Given the description of an element on the screen output the (x, y) to click on. 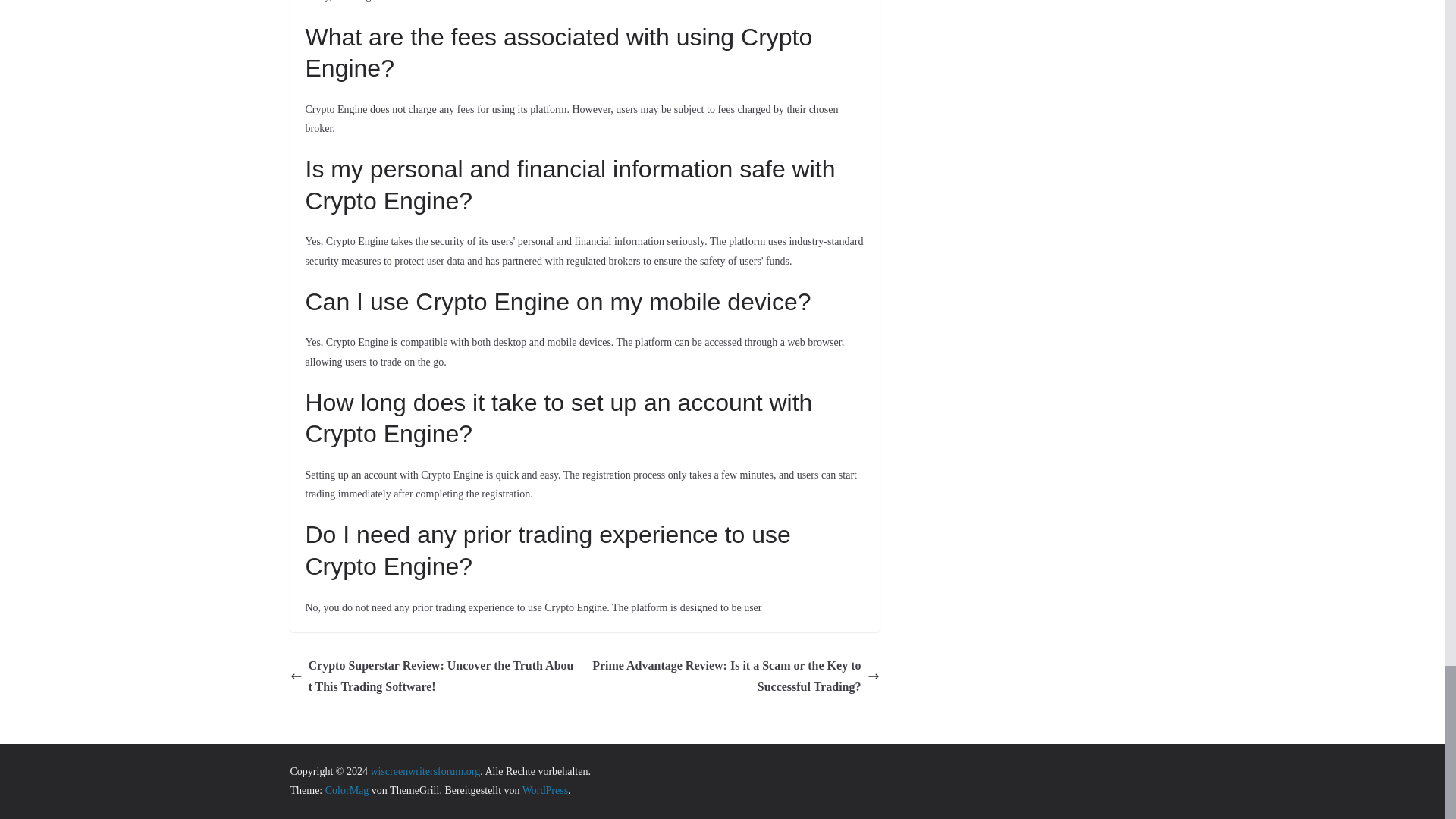
WordPress (544, 790)
ColorMag (346, 790)
wiscreenwritersforum.org (424, 771)
